Given the description of an element on the screen output the (x, y) to click on. 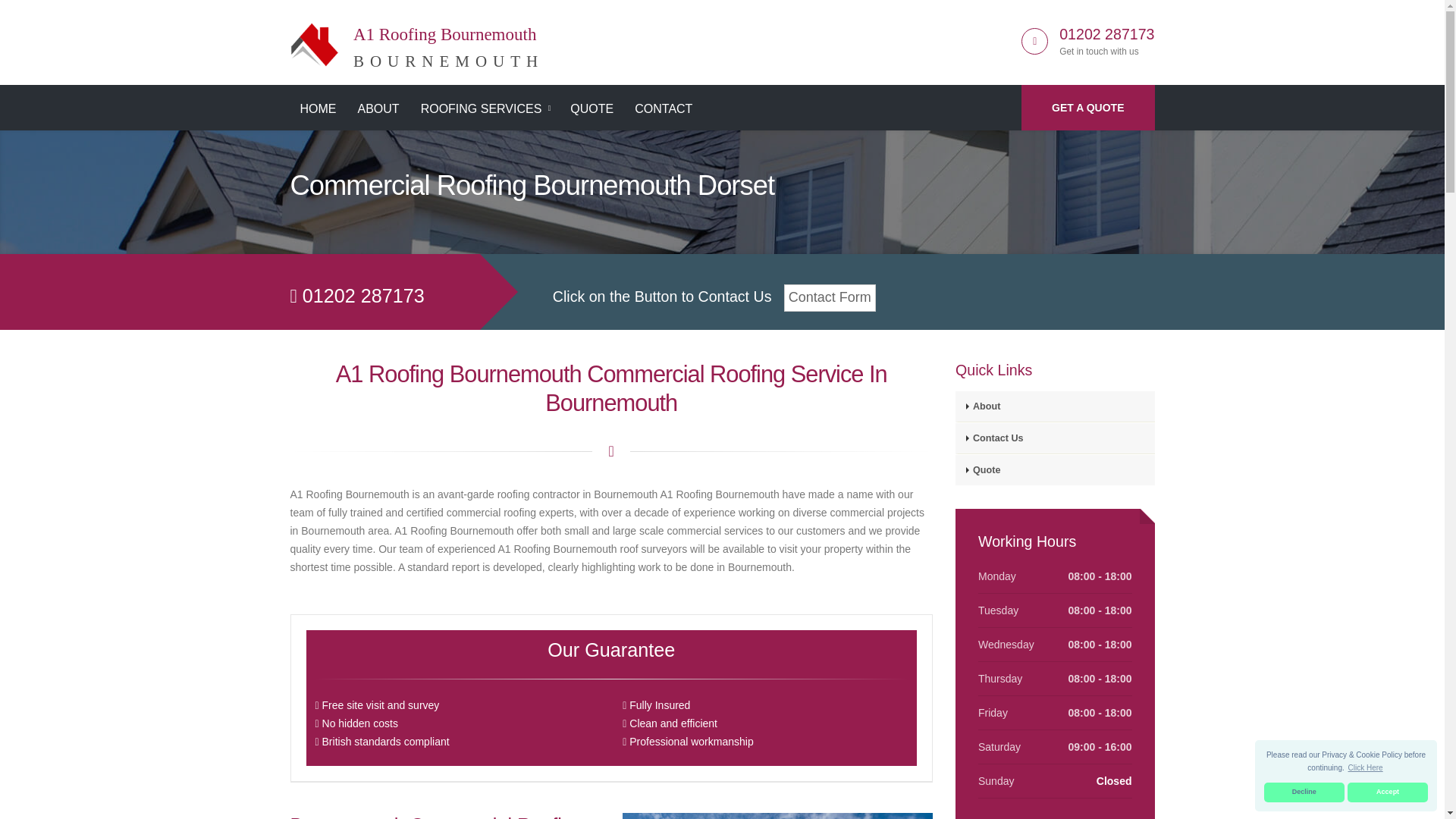
HOME (317, 109)
Click Here (1365, 767)
ROOFING SERVICES (484, 109)
ABOUT (416, 38)
GET A QUOTE (378, 109)
Decline (1088, 107)
Accept (1303, 792)
01202 287173 (1388, 792)
QUOTE (1106, 33)
